Given the description of an element on the screen output the (x, y) to click on. 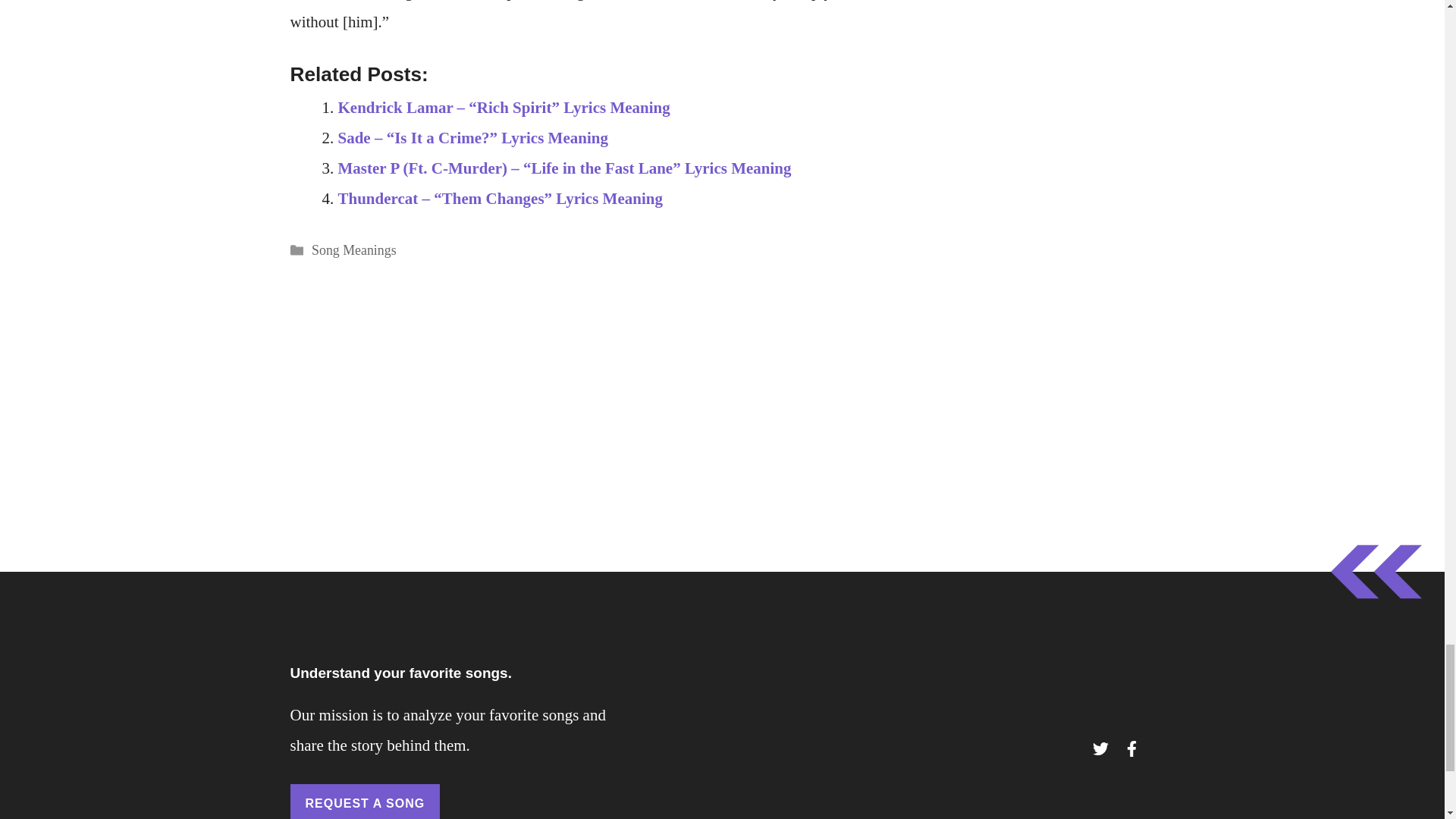
REQUEST A SONG (364, 801)
Song Meanings (353, 249)
